Given the description of an element on the screen output the (x, y) to click on. 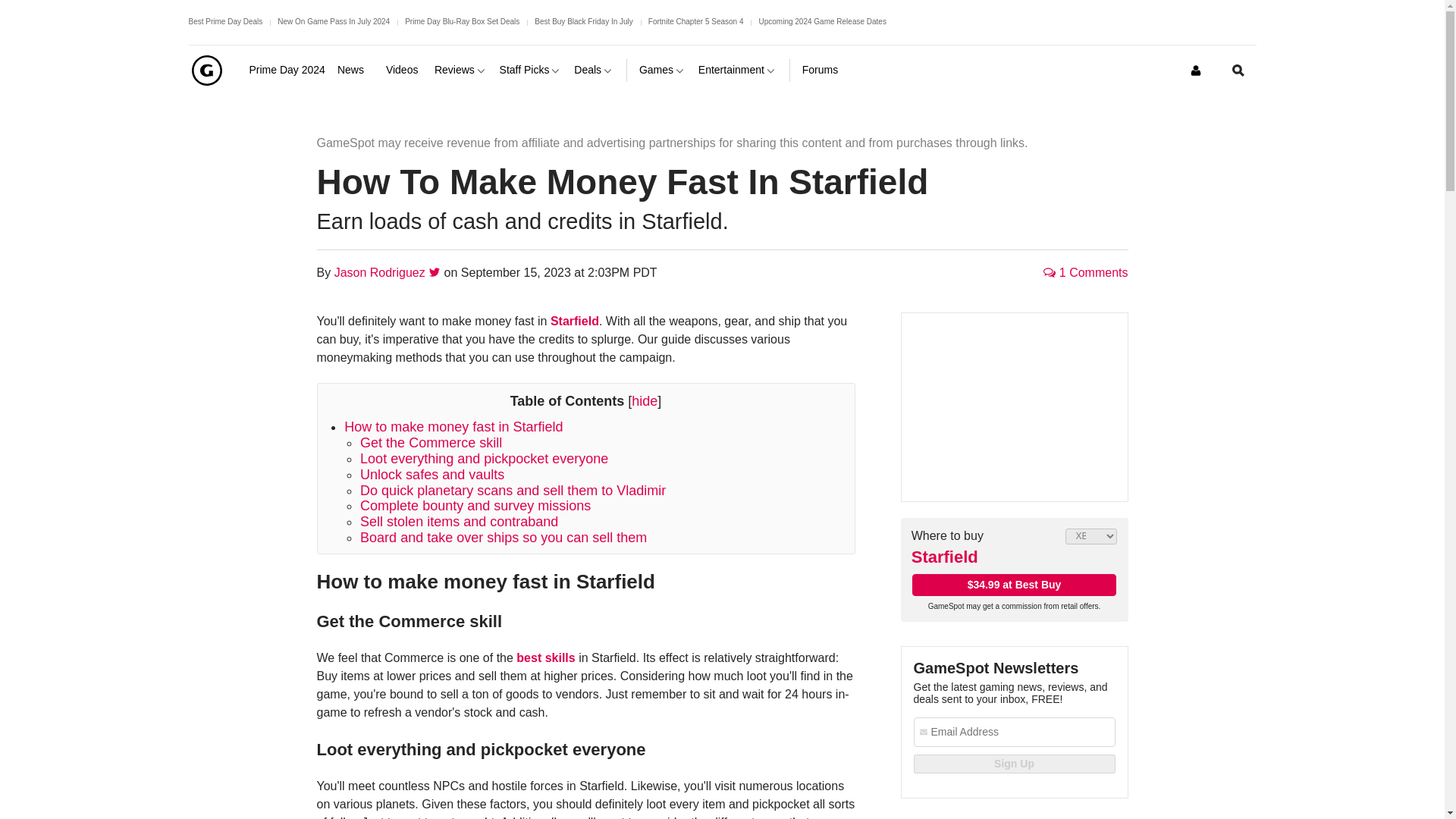
New On Game Pass In July 2024 (334, 21)
Best Buy Black Friday In July (583, 21)
Games (662, 70)
Fortnite Chapter 5 Season 4 (695, 21)
Upcoming 2024 Game Release Dates (821, 21)
News (355, 70)
Staff Picks (530, 70)
Videos (403, 70)
Prime Day 2024 (286, 70)
Deals (593, 70)
Reviews (460, 70)
GameSpot (205, 70)
Prime Day Blu-Ray Box Set Deals (461, 21)
Best Prime Day Deals (224, 21)
